Given the description of an element on the screen output the (x, y) to click on. 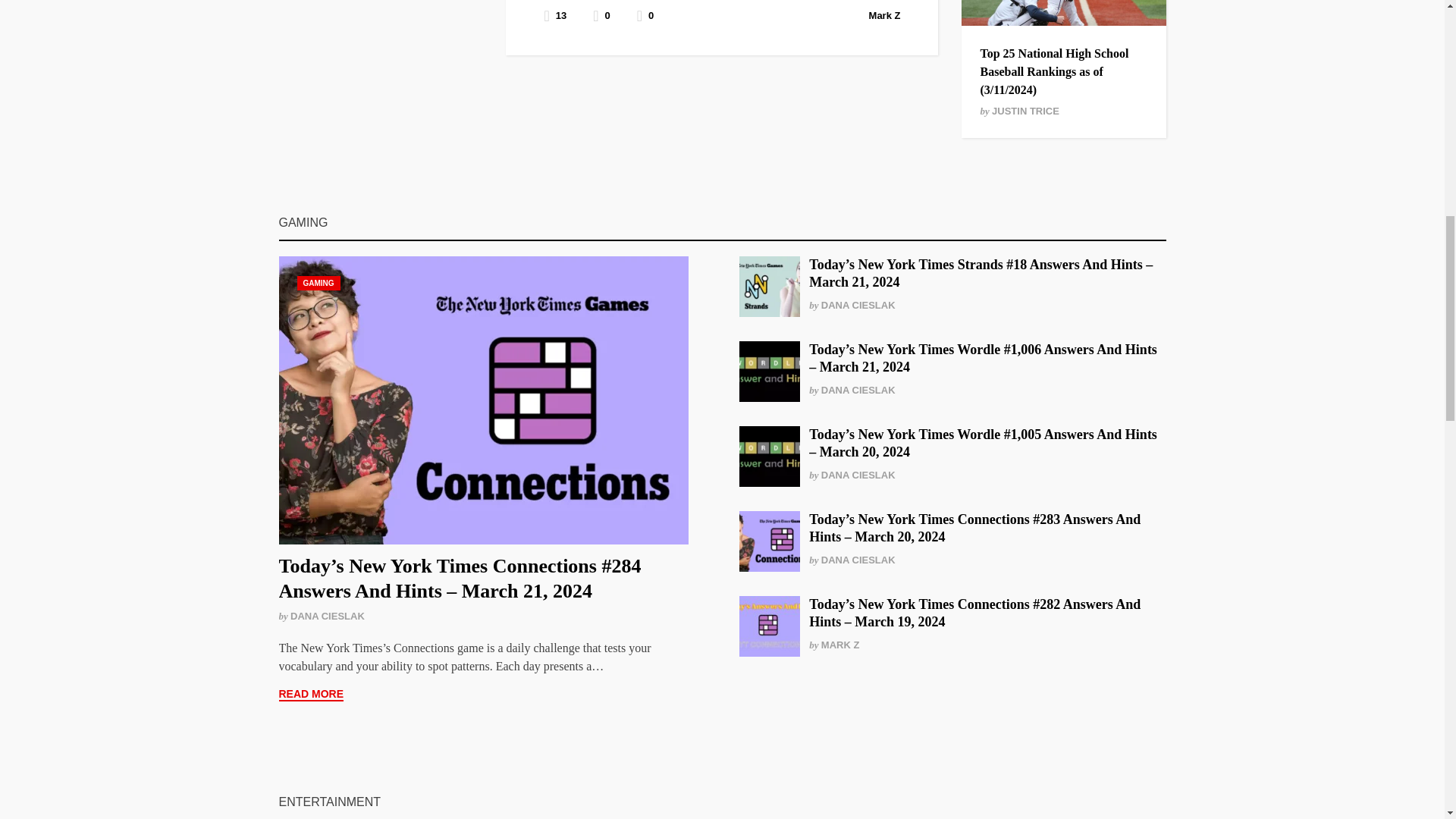
JUSTIN TRICE (1025, 111)
Like this (645, 15)
Mark Z (885, 15)
0 (645, 15)
